Given the description of an element on the screen output the (x, y) to click on. 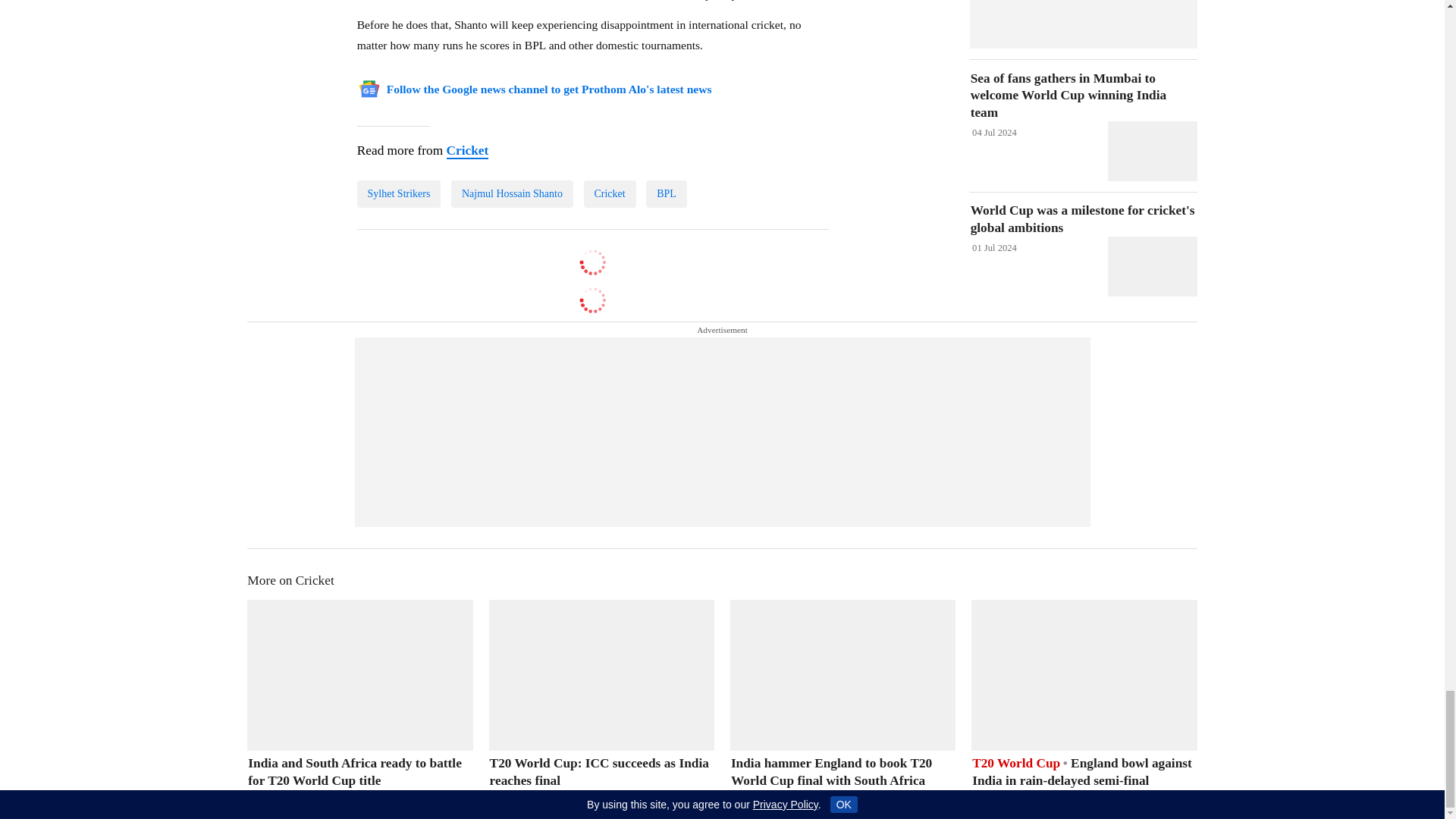
Cricket (466, 150)
Sylhet Strikers (398, 194)
